Given the description of an element on the screen output the (x, y) to click on. 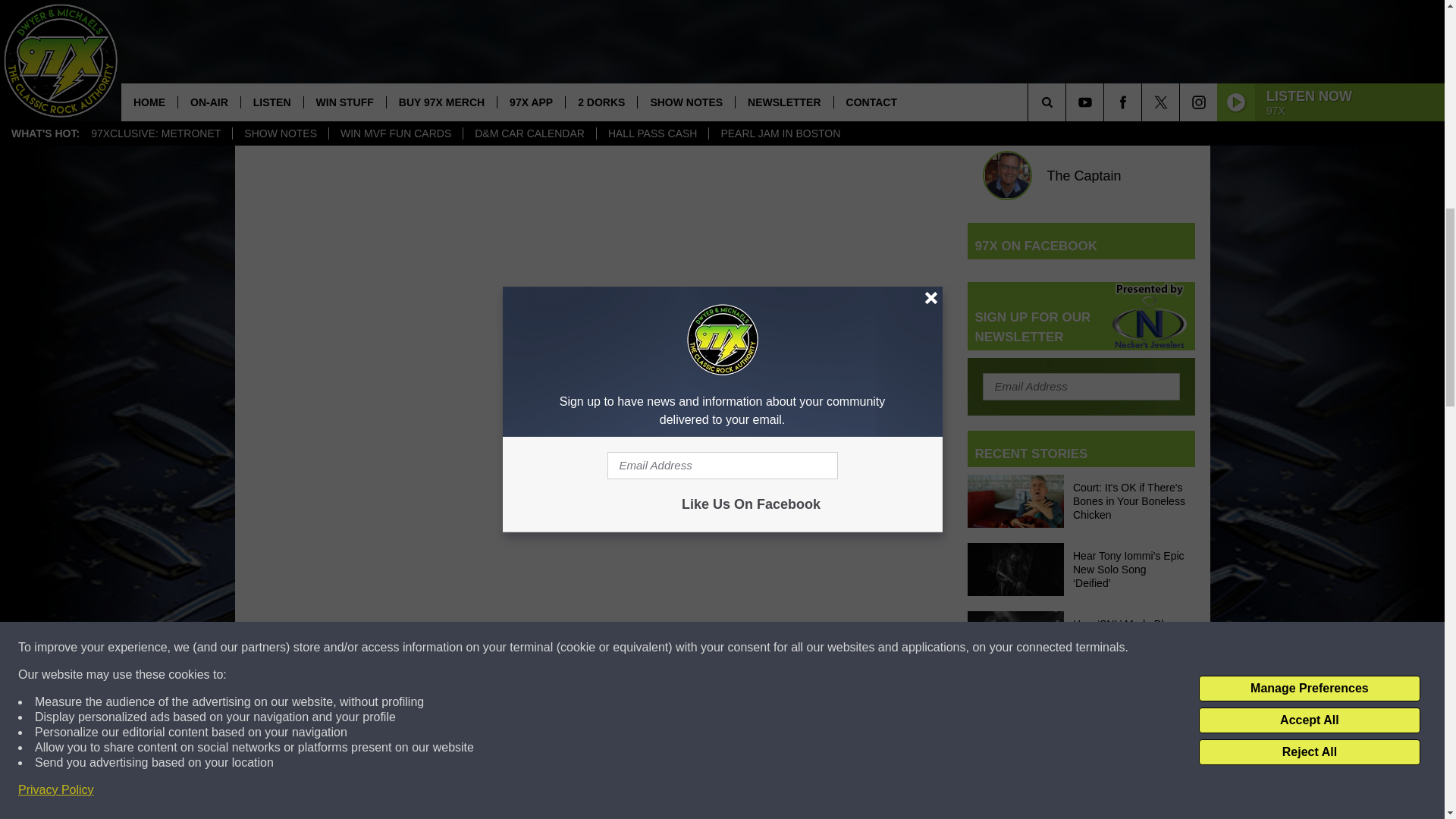
Email Address (1080, 386)
